Given the description of an element on the screen output the (x, y) to click on. 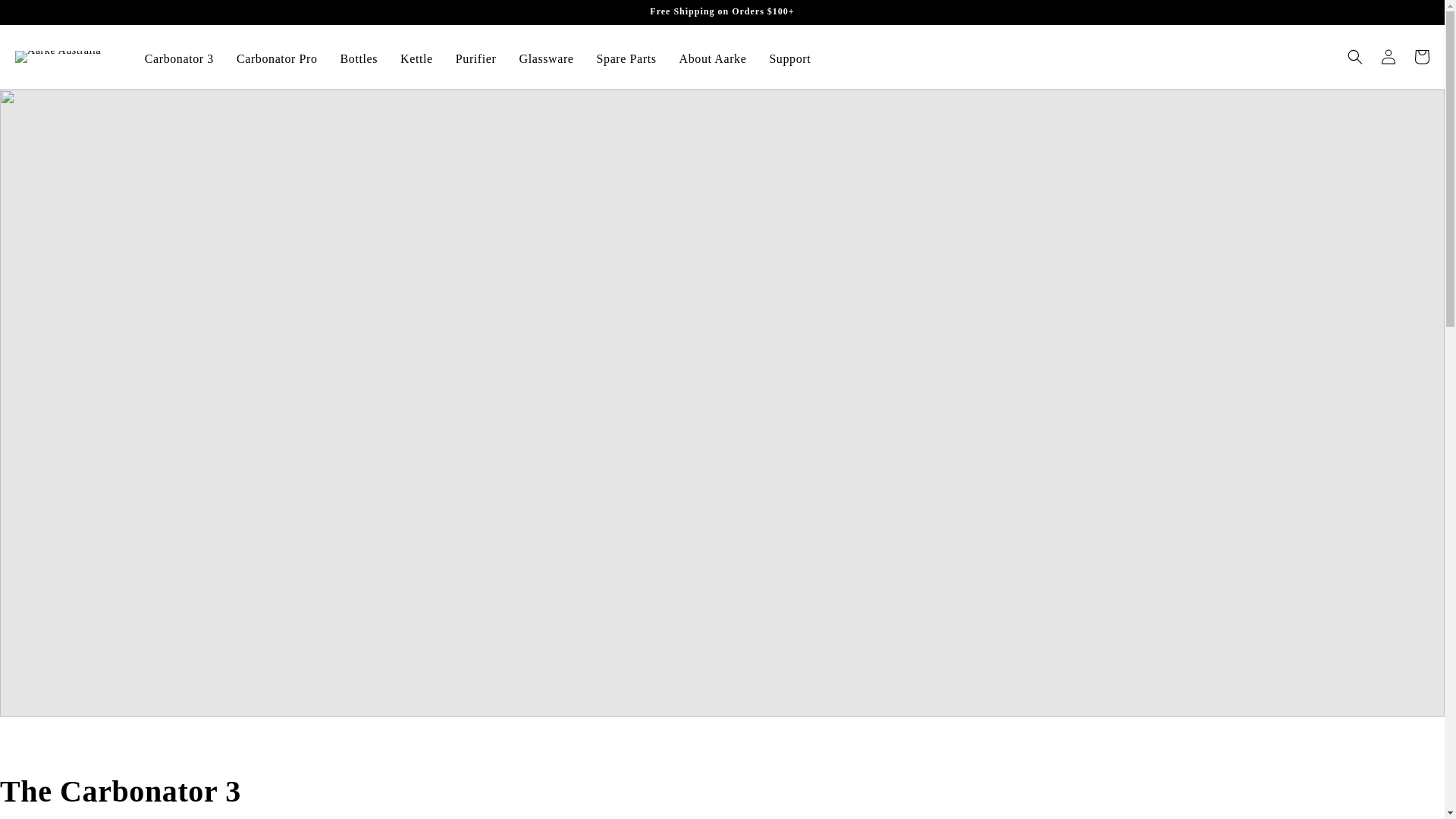
About Aarke (713, 59)
Carbonator Pro (277, 59)
Skip to content (45, 15)
Kettle (416, 59)
Carbonator 3 (179, 59)
Log in (1388, 56)
Bottles (359, 59)
Support (789, 59)
Cart (1421, 56)
Spare Parts (626, 59)
Glassware (545, 59)
Purifier (476, 59)
